Given the description of an element on the screen output the (x, y) to click on. 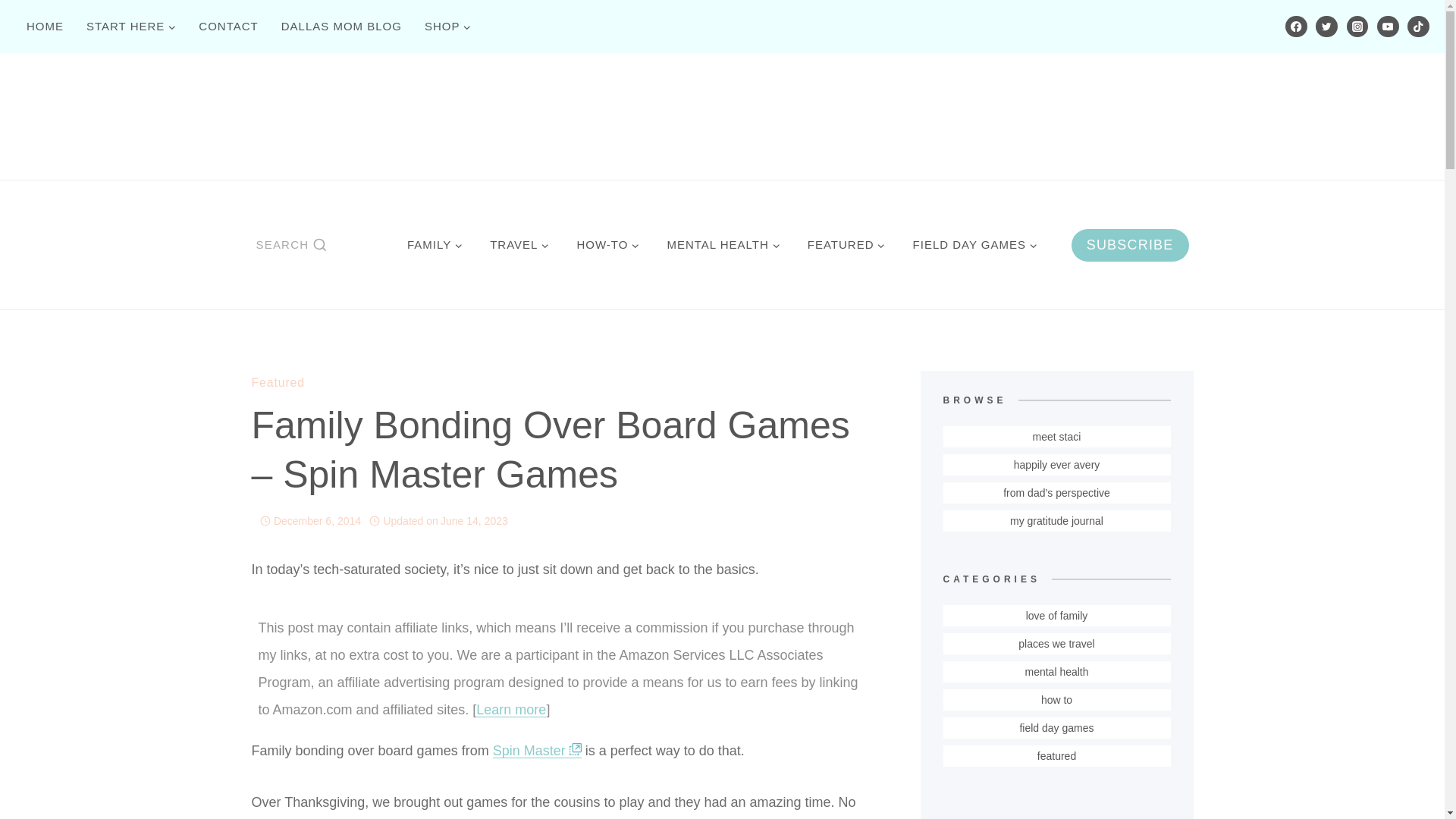
FAMILY (434, 244)
SHOP (448, 26)
HOME (44, 26)
START HERE (131, 26)
DALLAS MOM BLOG (341, 26)
Spin Master (536, 750)
TRAVEL (519, 244)
HOW-TO (607, 244)
SEARCH (291, 244)
CONTACT (228, 26)
Link goes to external site. (574, 750)
